Given the description of an element on the screen output the (x, y) to click on. 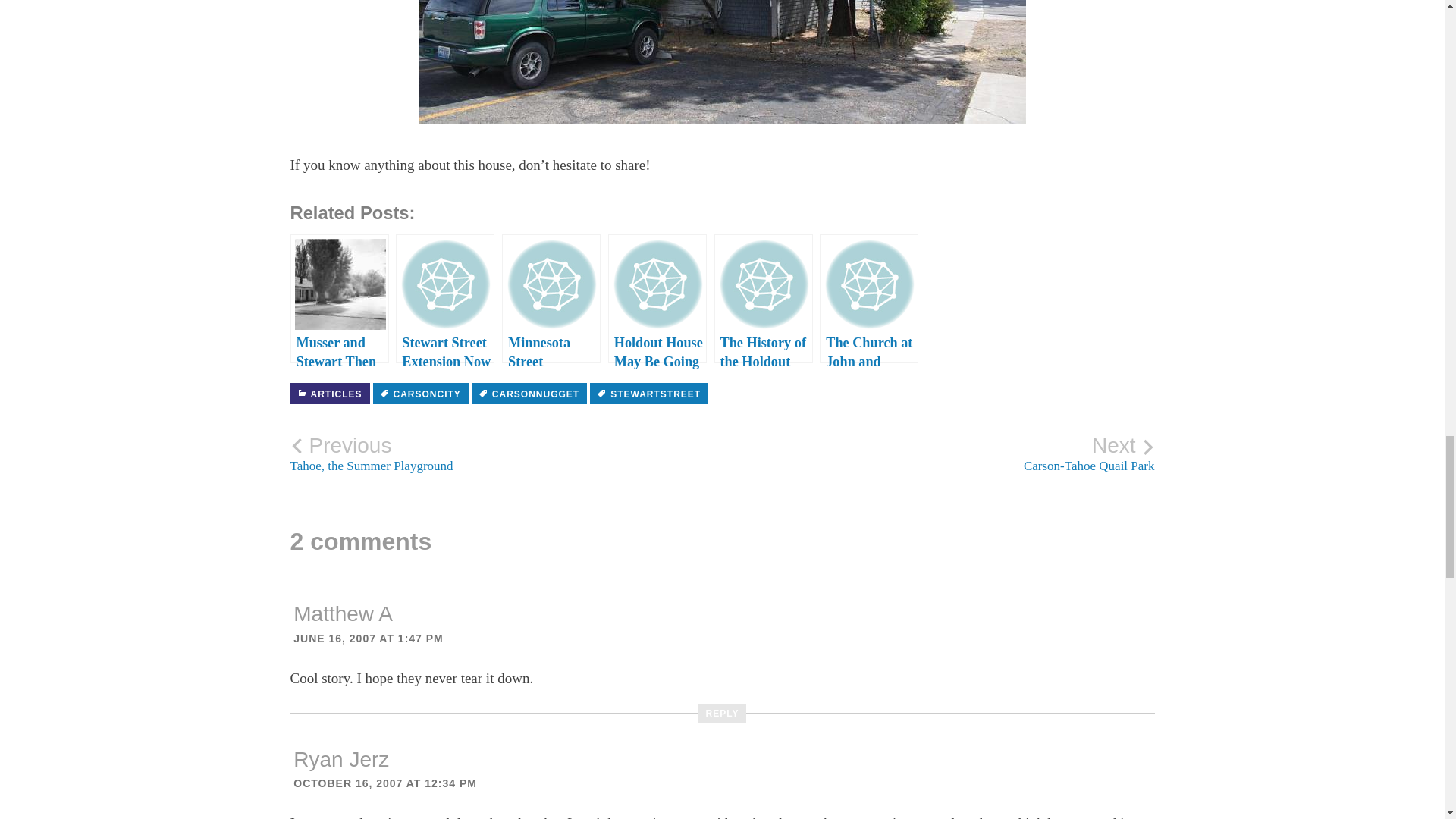
CARSONNUGGET (528, 393)
JUNE 16, 2007 AT 1:47 PM (369, 638)
CARSONCITY (938, 453)
ARTICLES (505, 453)
OCTOBER 16, 2007 AT 12:34 PM (420, 393)
STEWARTSTREET (329, 393)
REPLY (385, 783)
